Given the description of an element on the screen output the (x, y) to click on. 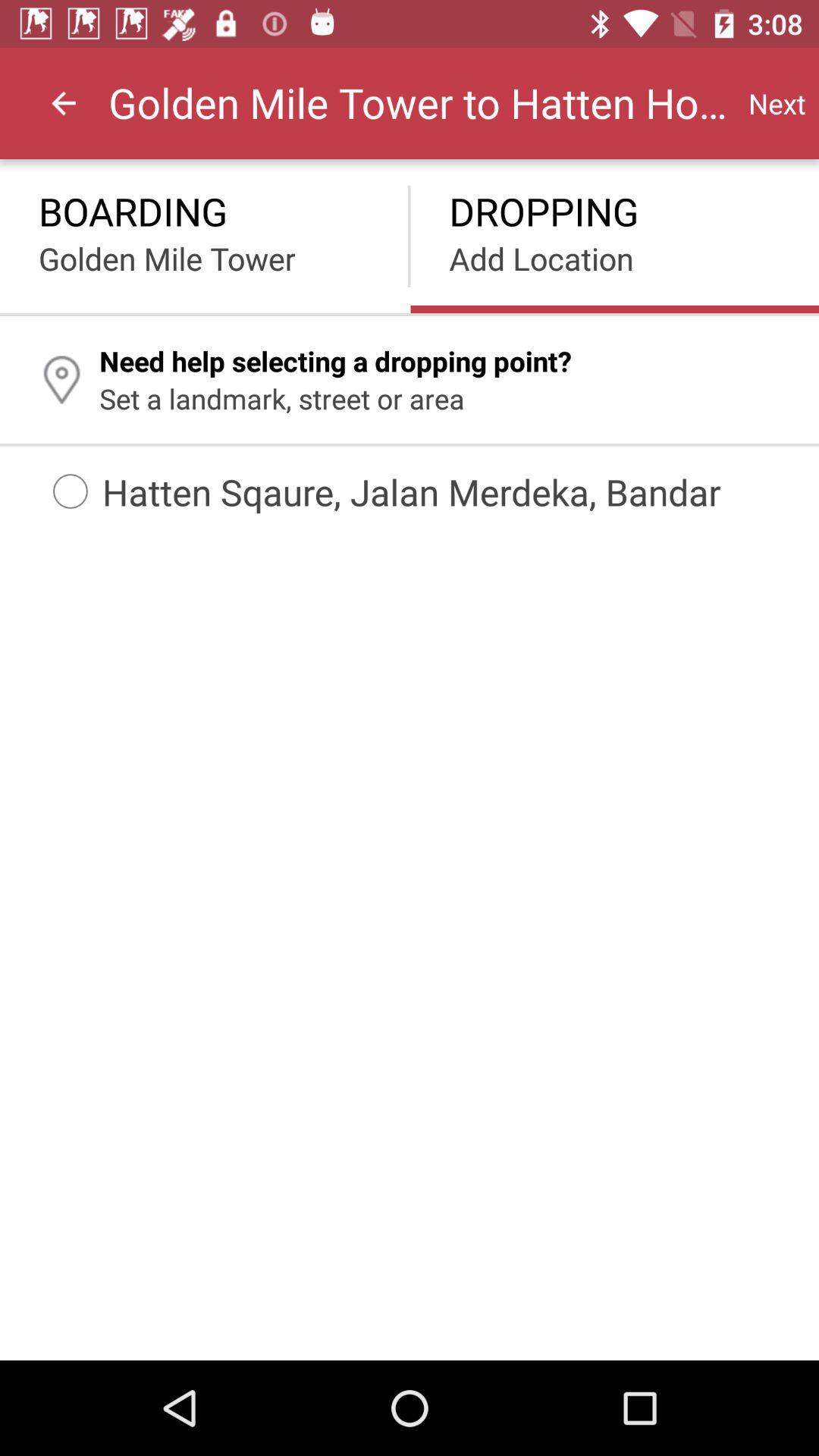
press the item next to the golden mile tower (777, 103)
